Given the description of an element on the screen output the (x, y) to click on. 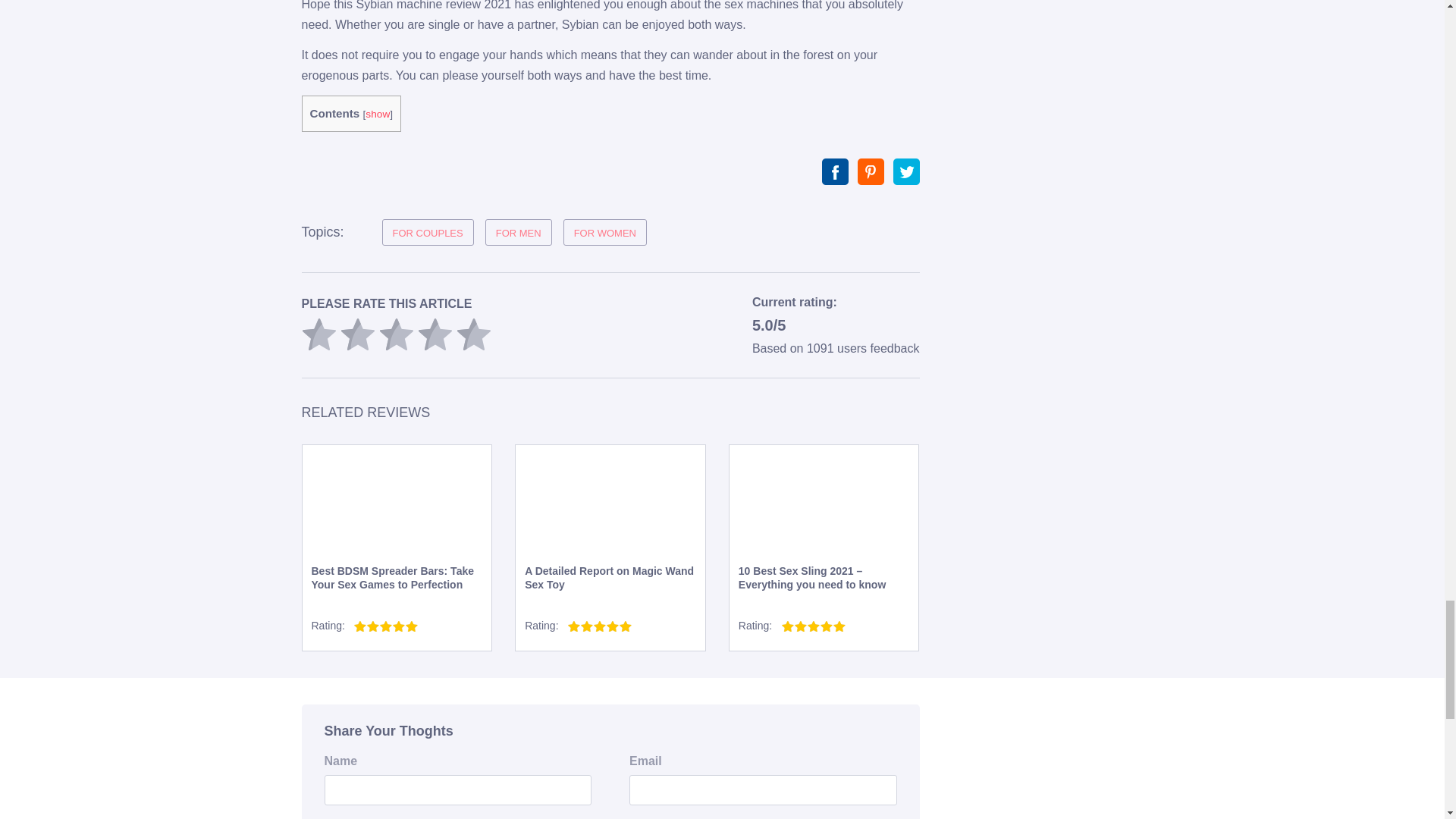
4 (433, 333)
5 (474, 333)
show (377, 113)
2 (356, 333)
1 (318, 333)
3 (395, 333)
